Given the description of an element on the screen output the (x, y) to click on. 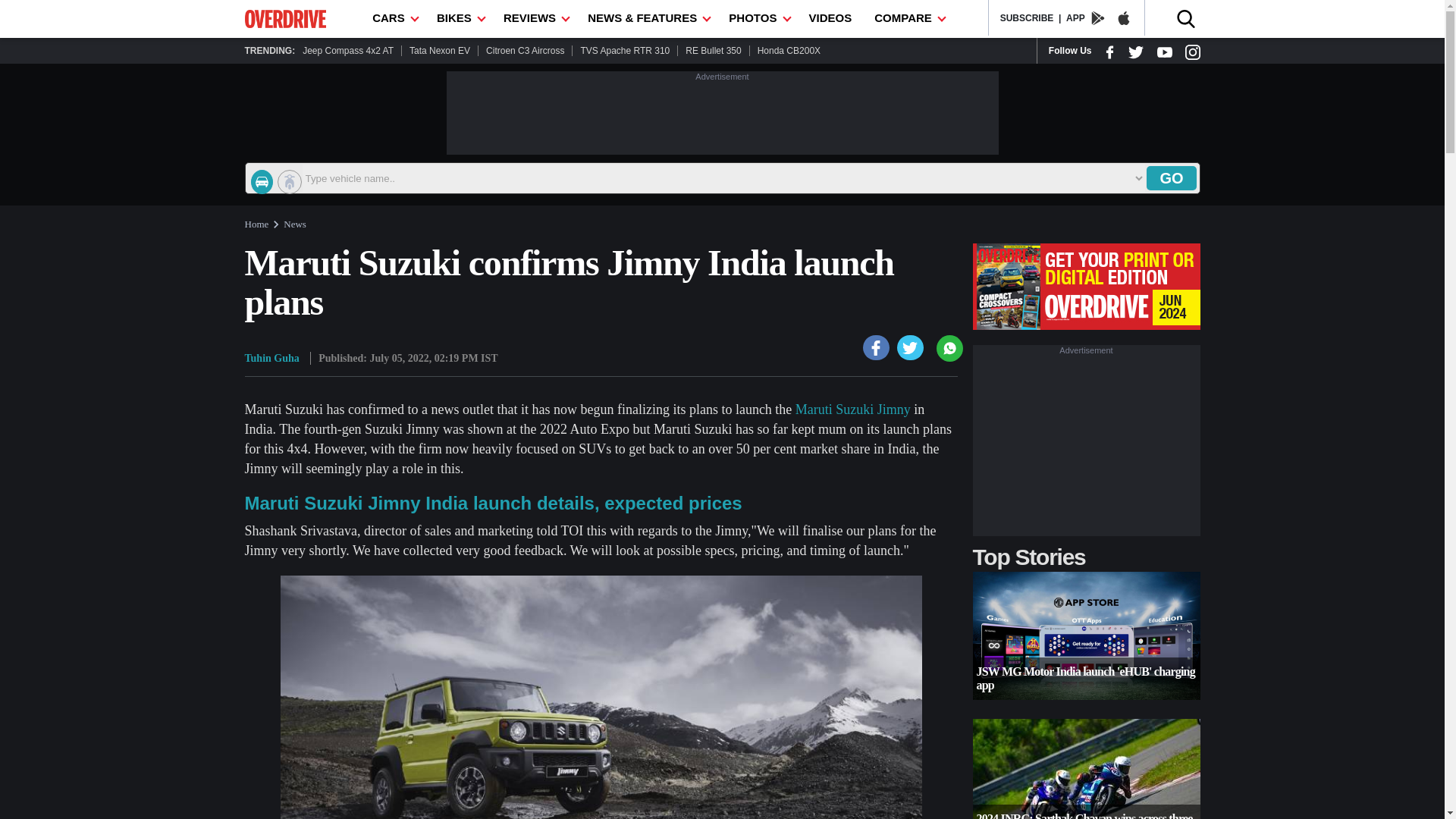
Maruti Suzuki confirms Jimny India launch plans (876, 347)
BIKES (458, 18)
REVIEWS (534, 18)
PHOTOS (756, 18)
CARS (393, 18)
Maruti Suzuki confirms Jimny India launch plans (909, 347)
